Given the description of an element on the screen output the (x, y) to click on. 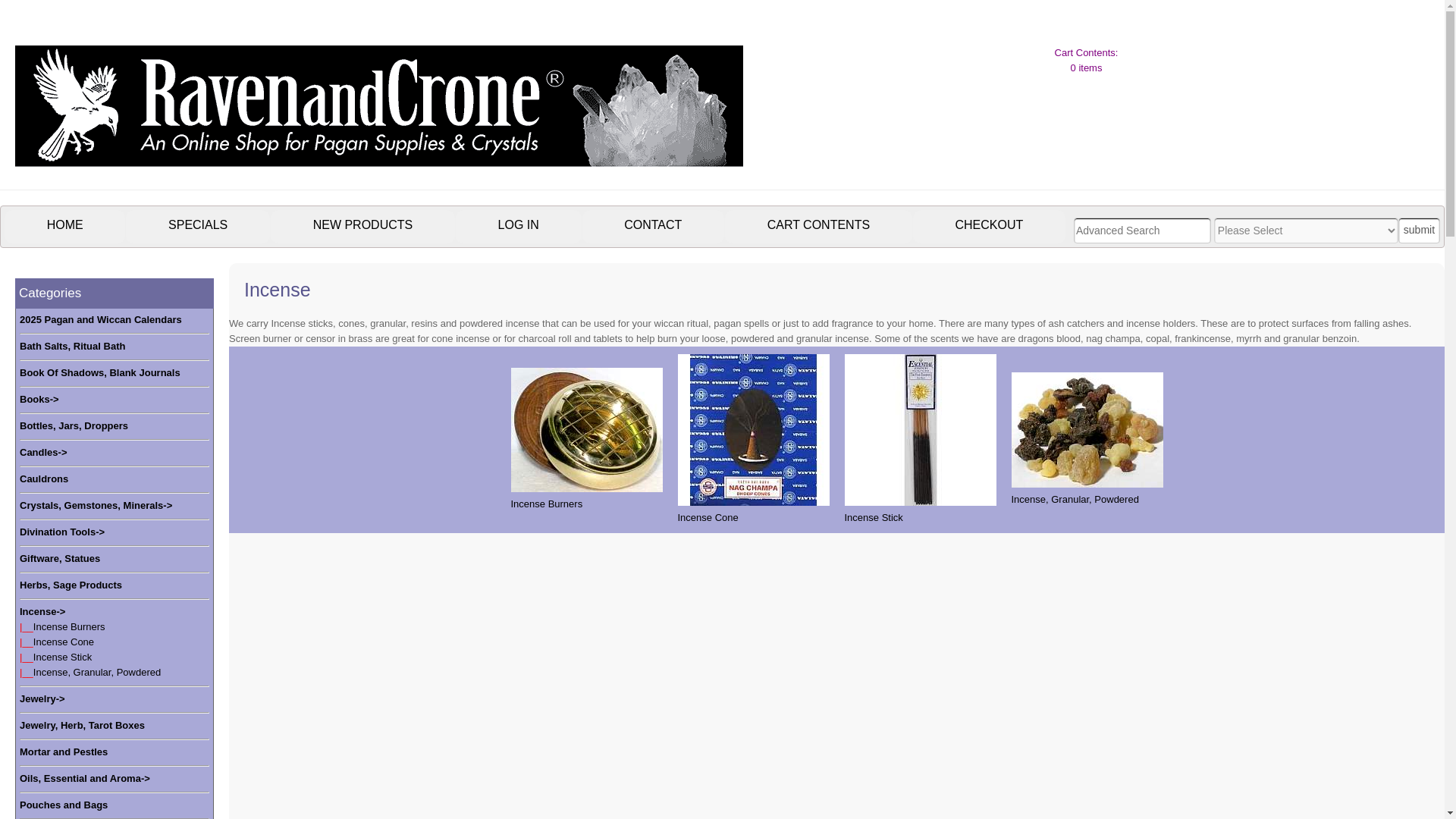
Book Of Shadows, Blank Journals (100, 372)
Herbs, Sage Products (71, 585)
 Incense Burners  (586, 429)
Incense Cone (63, 642)
2025 Pagan and Wiccan Calendars (101, 319)
Pouches and Bags (63, 805)
Incense Burners (68, 626)
Bottles, Jars, Droppers (74, 426)
 Incense, Granular, Powdered  (1087, 429)
Bath Salts, Ritual Bath (72, 346)
